Given the description of an element on the screen output the (x, y) to click on. 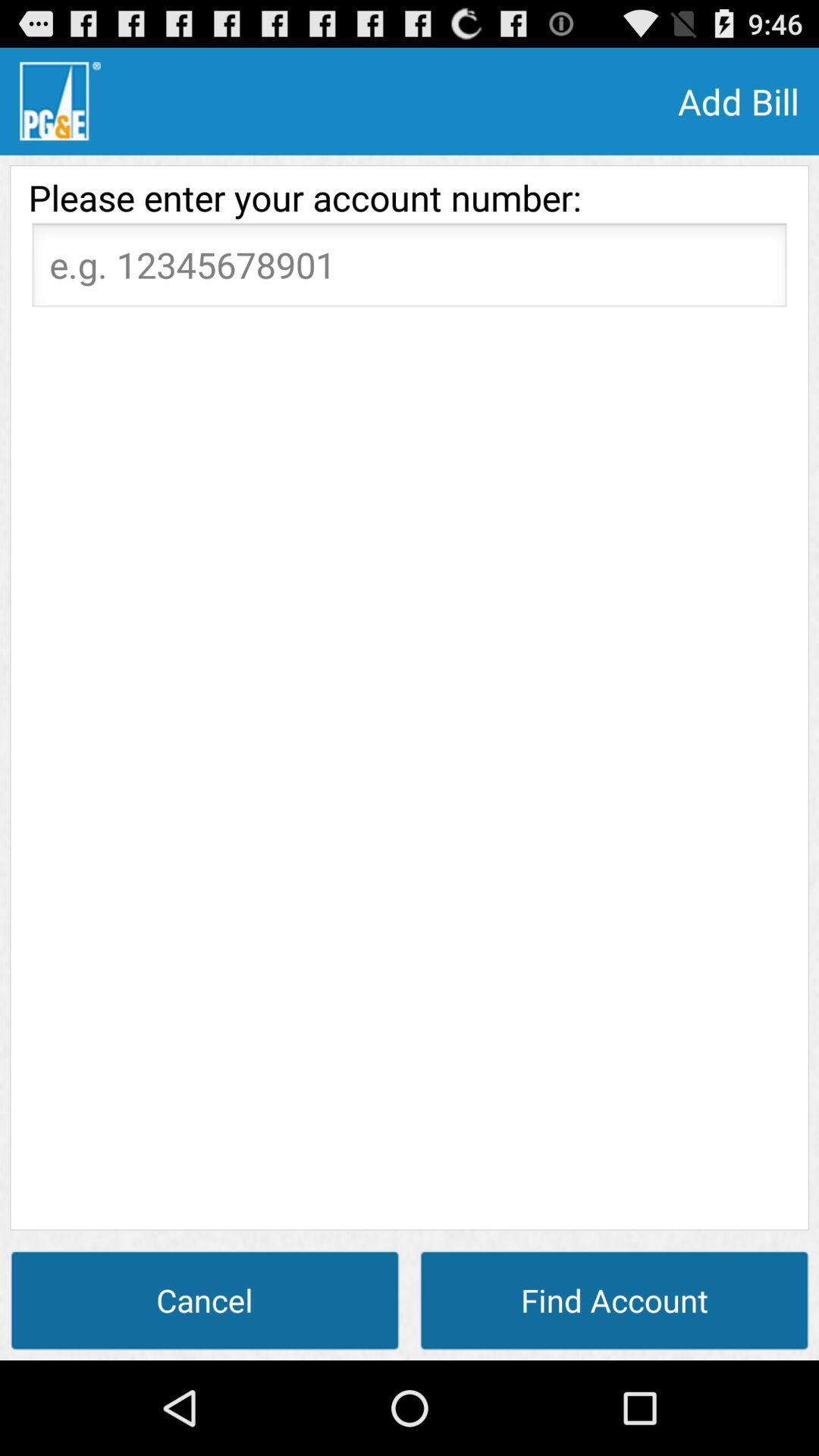
flip until find account (613, 1300)
